Given the description of an element on the screen output the (x, y) to click on. 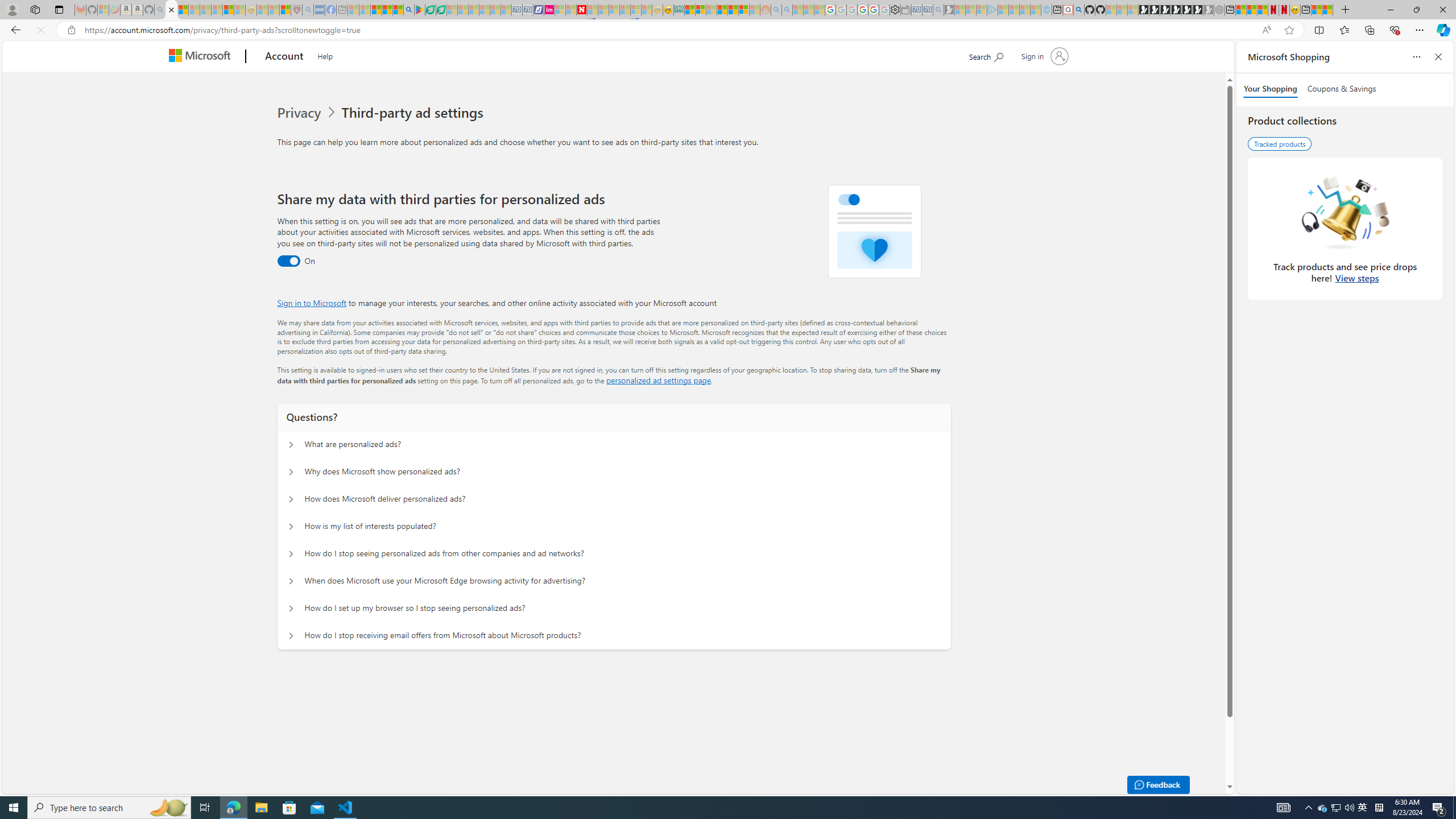
Bluey: Let's Play! - Apps on Google Play (419, 9)
personalized ad settings page (658, 379)
